Given the description of an element on the screen output the (x, y) to click on. 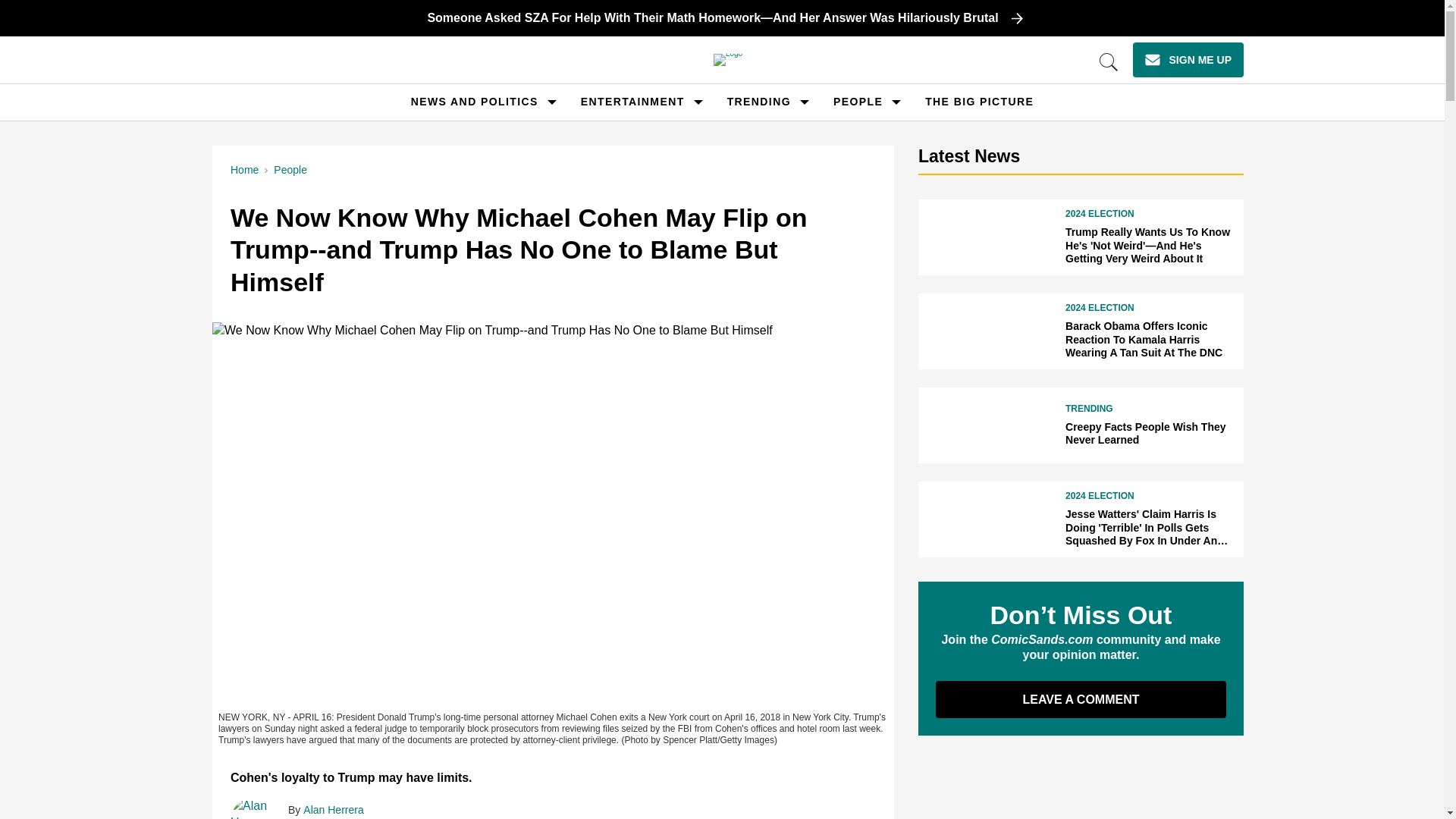
Open Search (1108, 61)
SIGN ME UP (1187, 59)
NEWS AND POLITICS (474, 101)
Open Search (1108, 61)
